Given the description of an element on the screen output the (x, y) to click on. 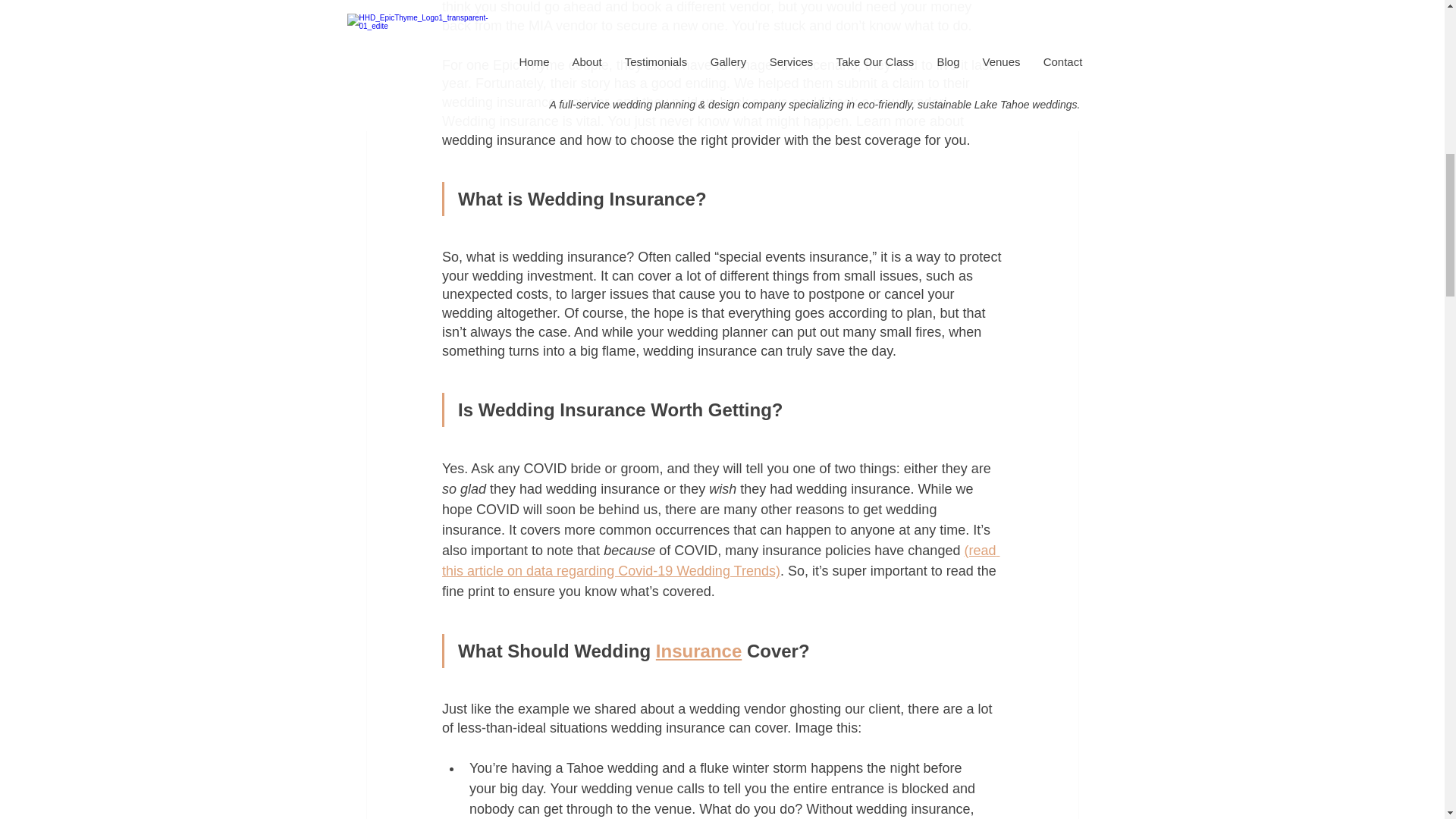
Insurance (698, 650)
